Given the description of an element on the screen output the (x, y) to click on. 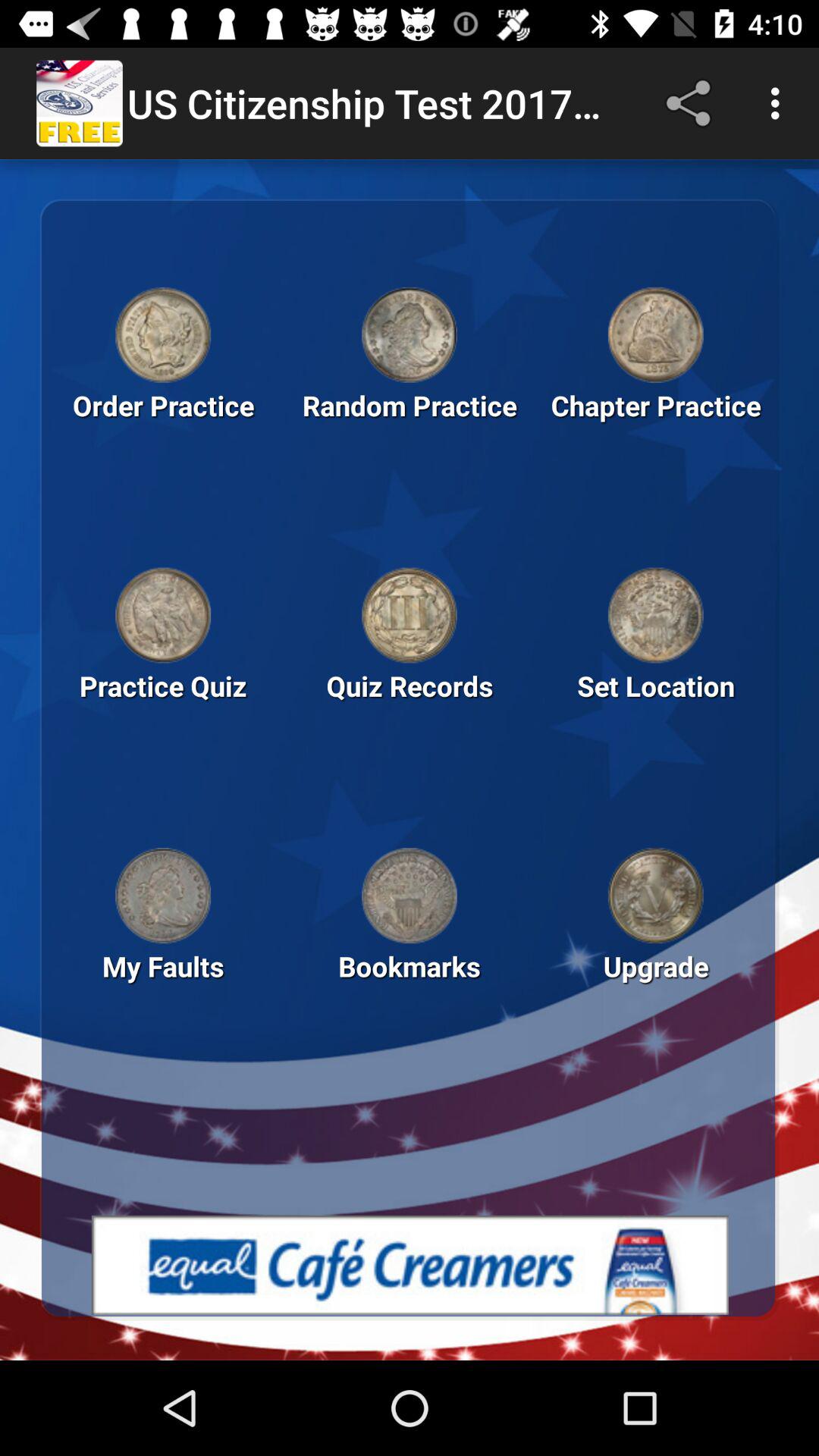
open chapter practice (655, 334)
